Given the description of an element on the screen output the (x, y) to click on. 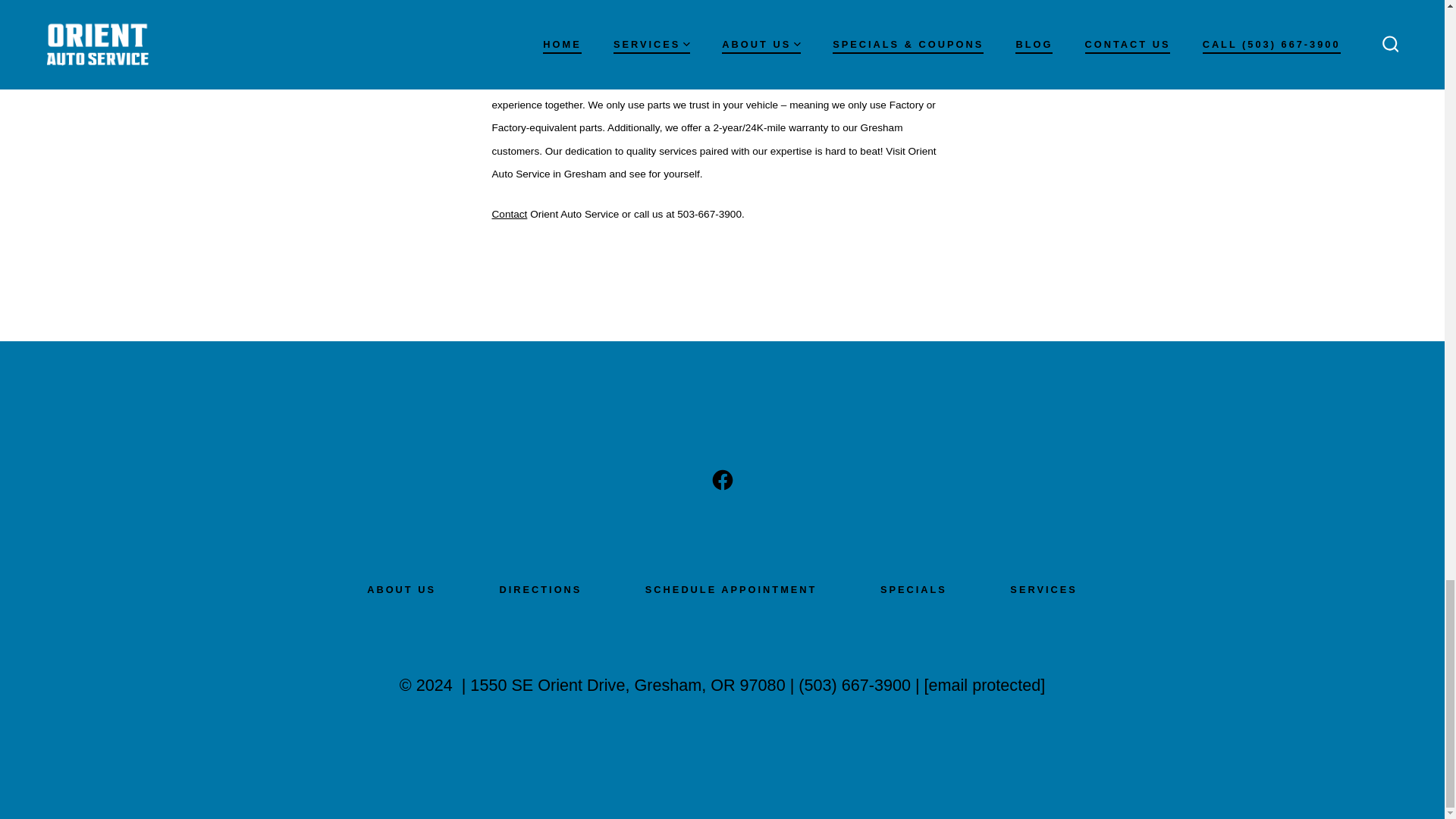
Open Facebook in a new tab (721, 479)
Contact (509, 214)
